Given the description of an element on the screen output the (x, y) to click on. 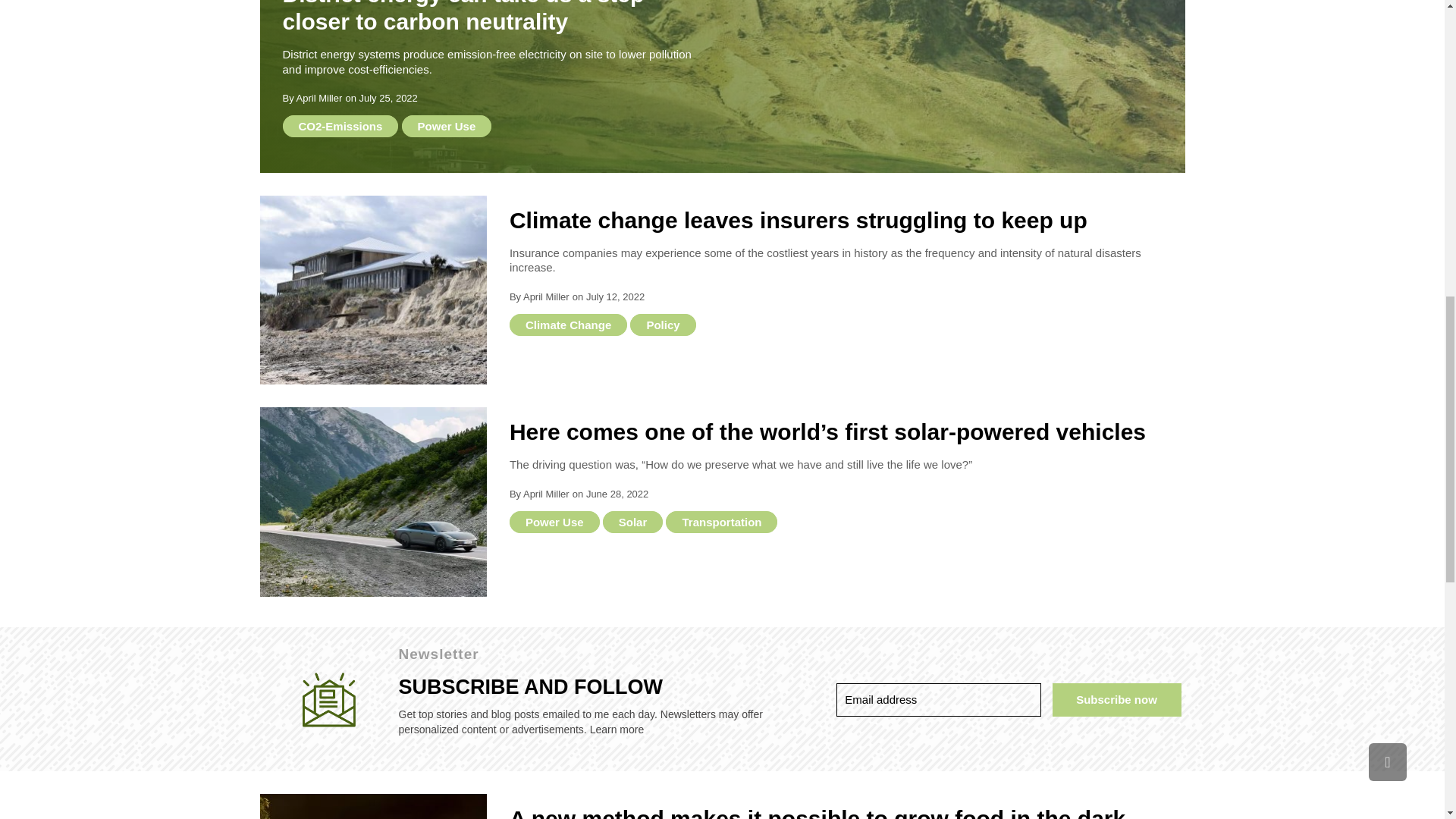
Subscribe now (1116, 699)
Posts by April Miller (545, 493)
Posts by April Miller (545, 296)
Climate change leaves insurers struggling to keep up (372, 289)
Posts by April Miller (319, 98)
